Given the description of an element on the screen output the (x, y) to click on. 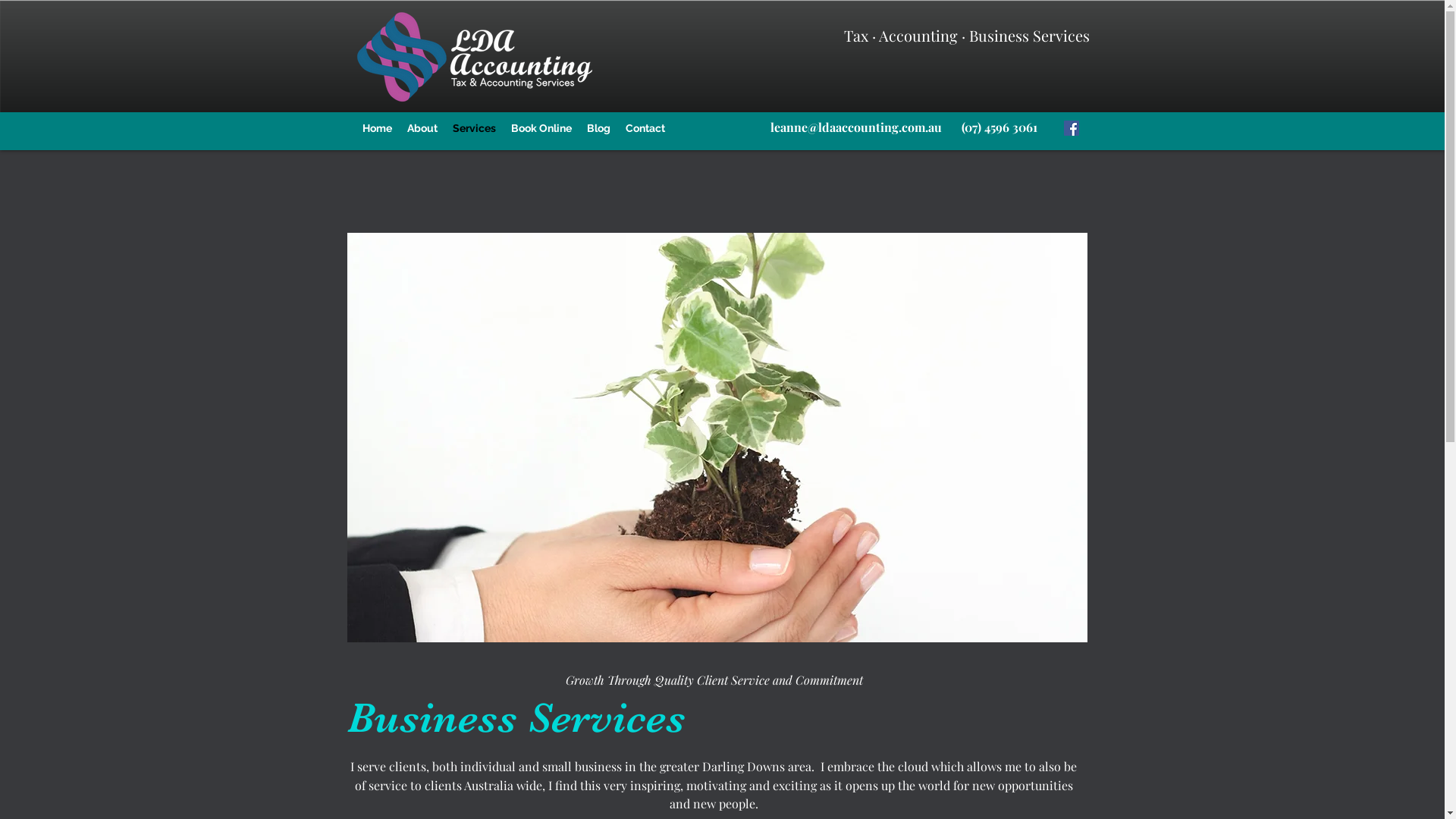
Contact Element type: text (644, 127)
Book Online Element type: text (541, 127)
Growth through quality client service and commitment Element type: hover (717, 437)
Blog Element type: text (598, 127)
leanne@ldaaccounting.com.au Element type: text (855, 126)
Home Element type: text (376, 127)
Services Element type: text (473, 127)
About Element type: text (421, 127)
